Given the description of an element on the screen output the (x, y) to click on. 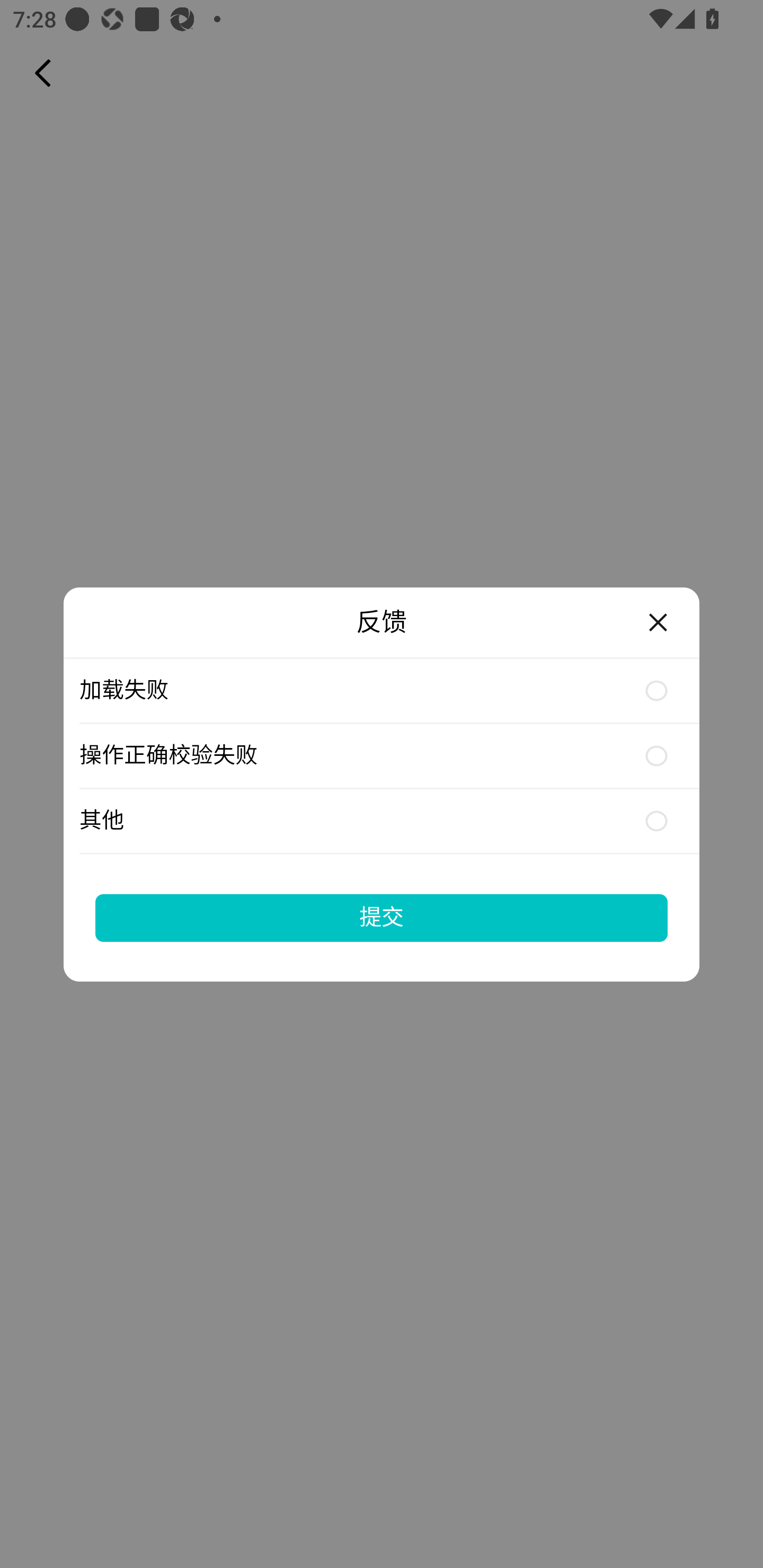
提交 (381, 917)
